Given the description of an element on the screen output the (x, y) to click on. 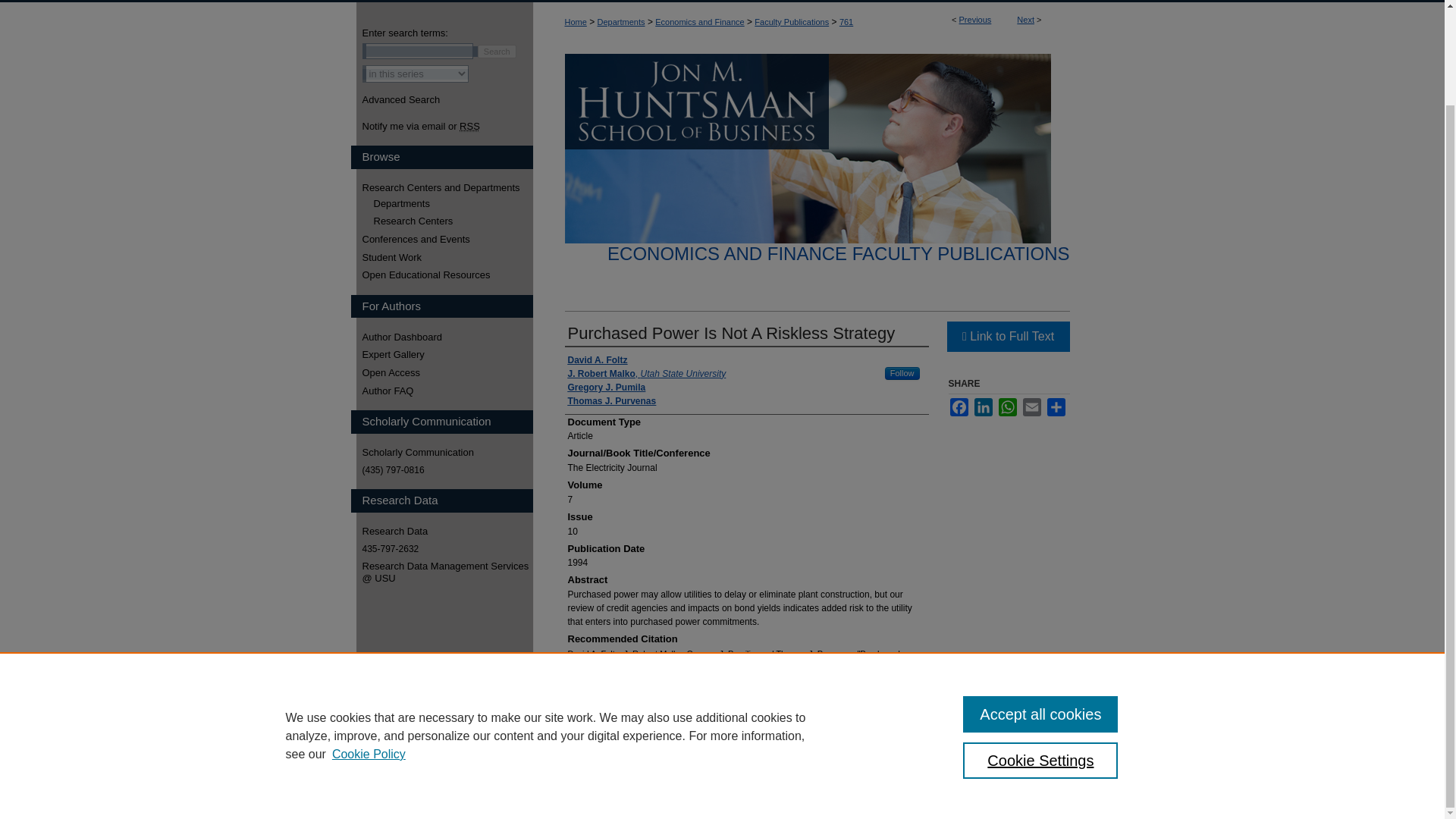
Gregory J. Pumila (606, 386)
Email or RSS Notifications (447, 126)
Search (496, 51)
WhatsApp (1006, 407)
LinkedIn (982, 407)
Link opens in new window (1007, 336)
J. Robert Malko, Utah State University (646, 373)
Advanced Search (401, 99)
Facebook (958, 407)
Link to Full Text (1007, 336)
Really Simple Syndication (470, 126)
Thomas J. Purvenas (611, 400)
Email (1031, 407)
ECONOMICS AND FINANCE FACULTY PUBLICATIONS (837, 253)
Follow (902, 373)
